Given the description of an element on the screen output the (x, y) to click on. 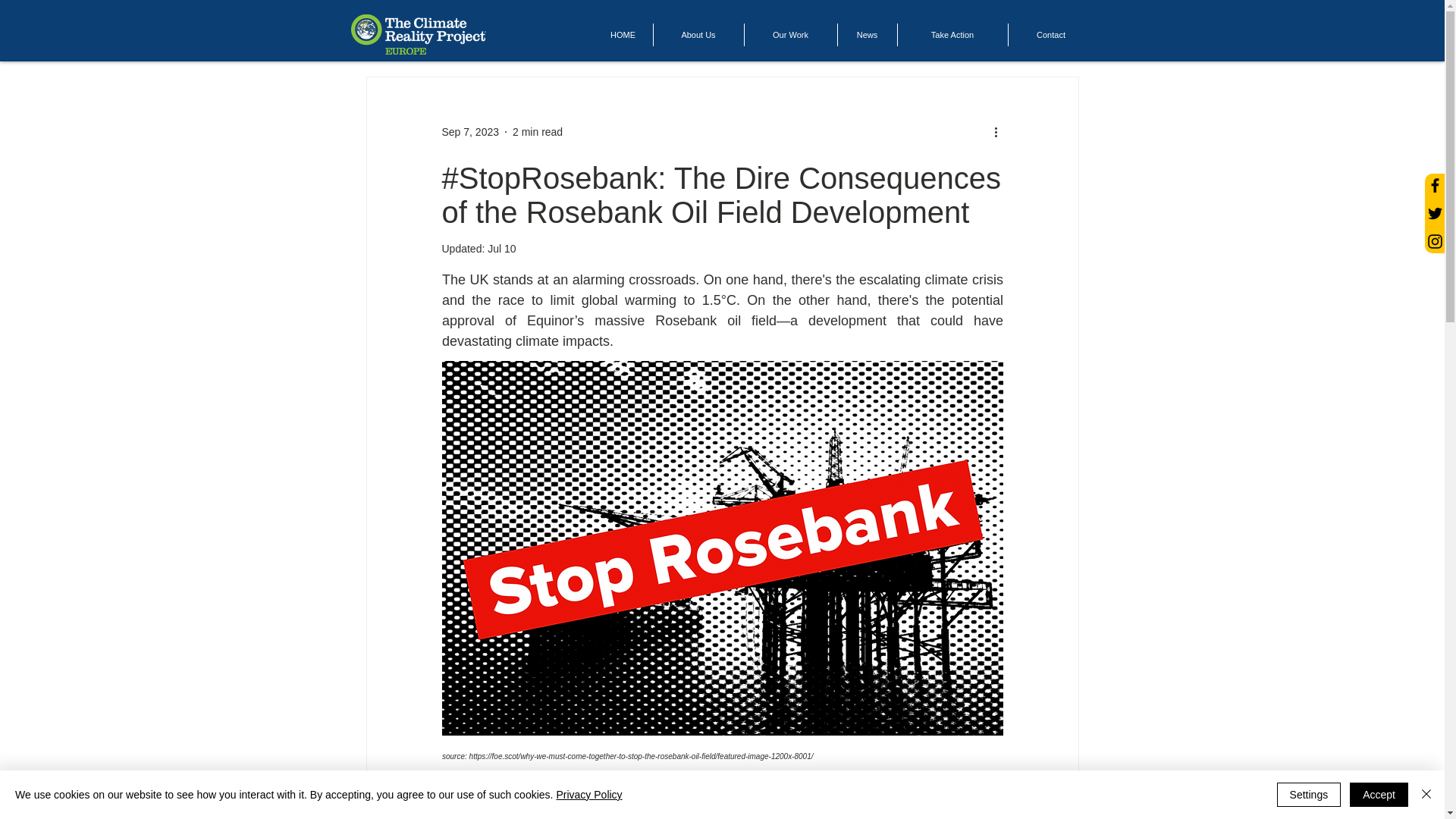
Contact (1051, 34)
Sep 7, 2023 (470, 132)
Take Action (952, 34)
Jul 10 (501, 248)
News (866, 34)
Our Work (790, 34)
HOME (622, 34)
About Us (698, 34)
2 min read (537, 132)
